Given the description of an element on the screen output the (x, y) to click on. 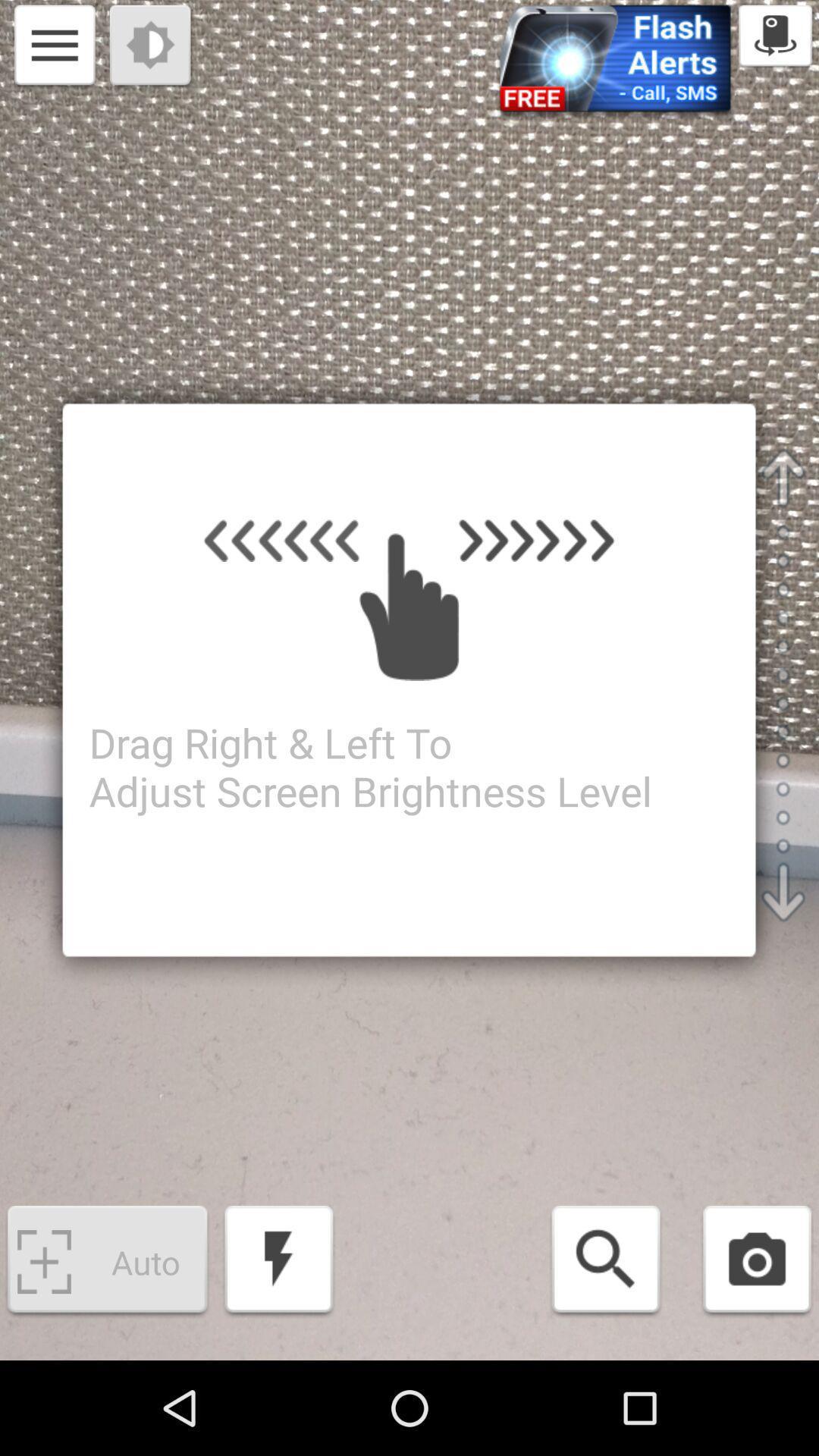
choose the item next to auto app (278, 1261)
